Given the description of an element on the screen output the (x, y) to click on. 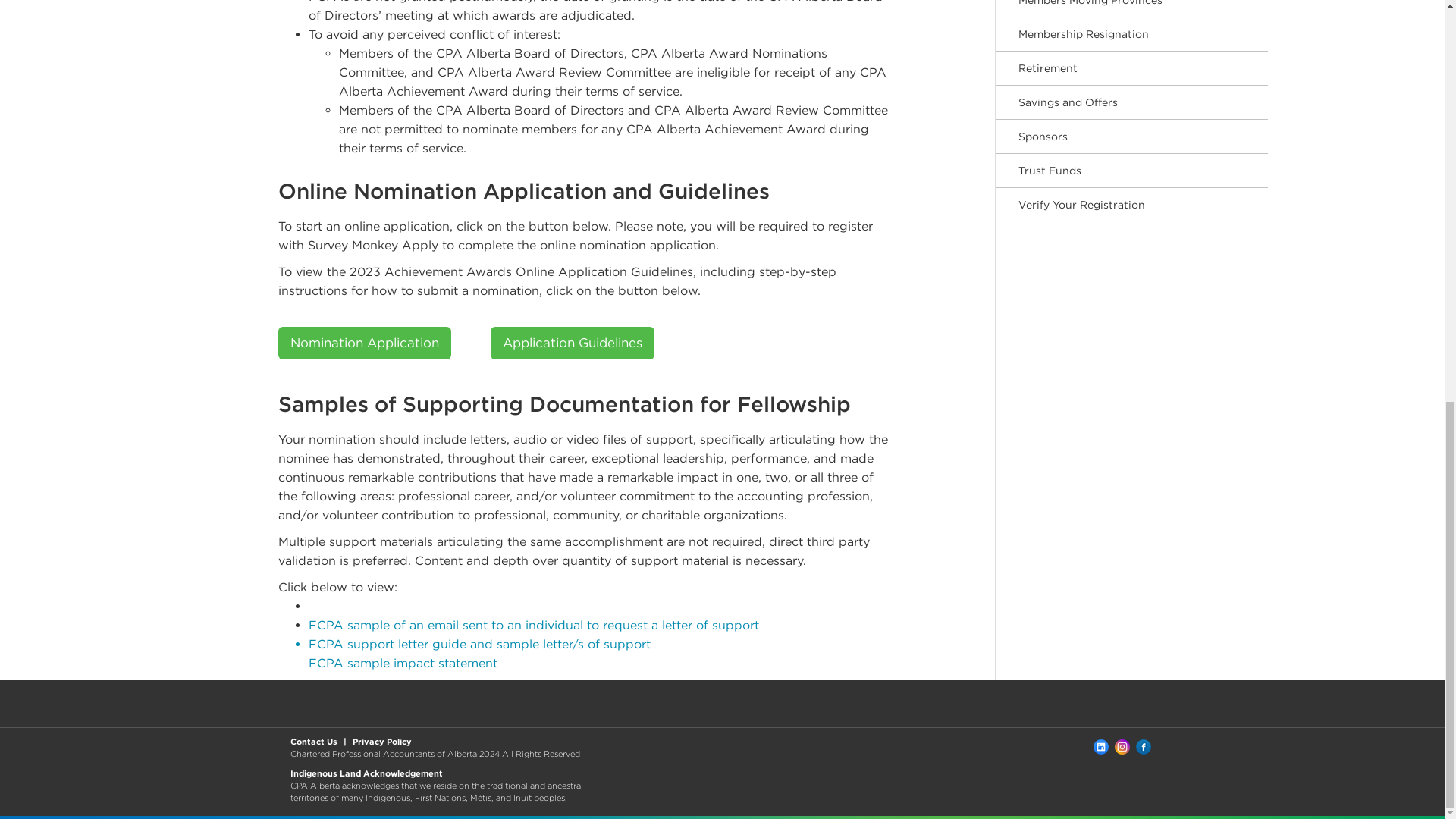
Instagram (1122, 746)
facebook (1143, 746)
